Given the description of an element on the screen output the (x, y) to click on. 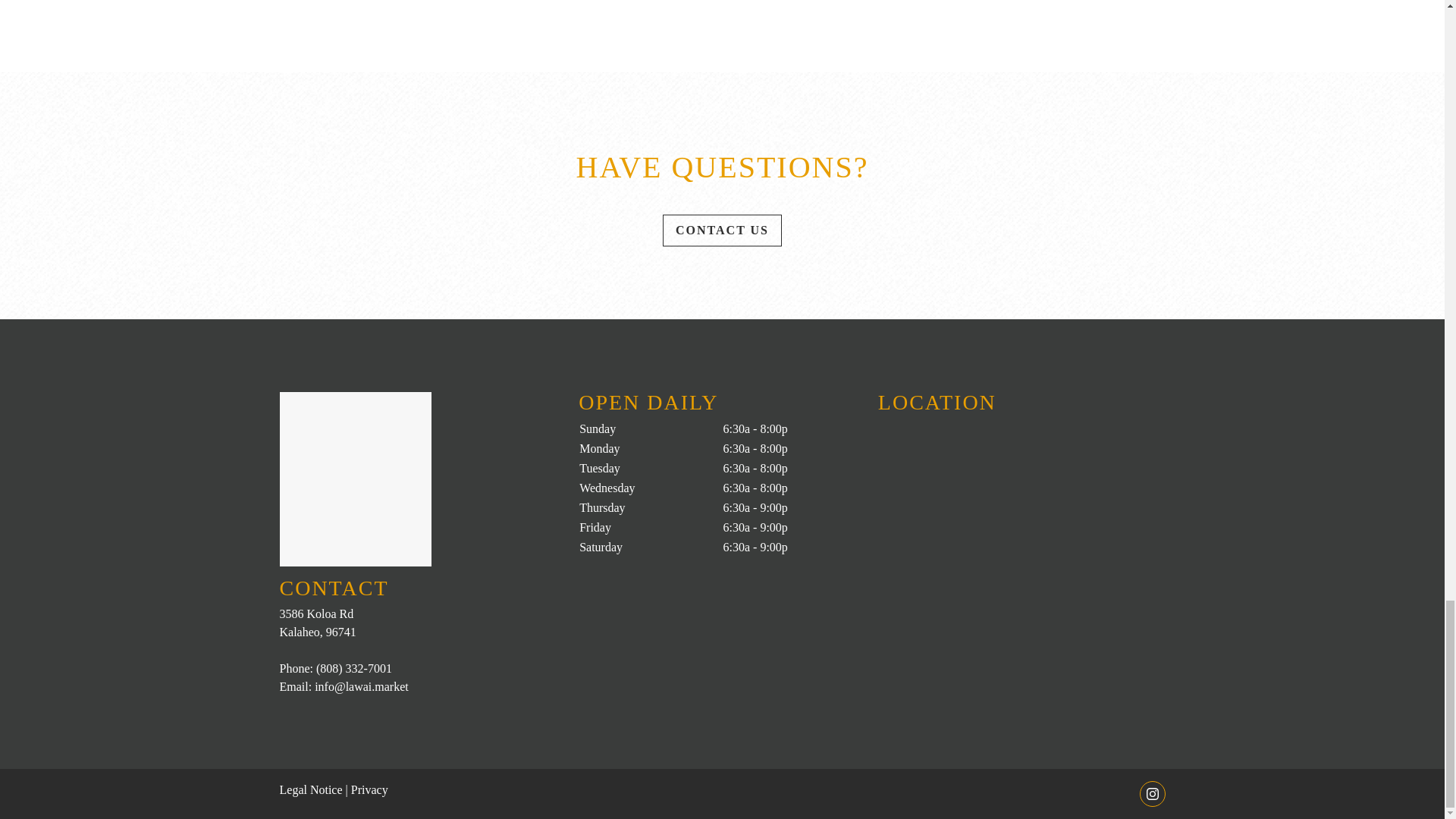
Lawai Market Instagram (1151, 793)
Legal Notice (310, 789)
CONTACT US (721, 230)
CONTACT US (721, 230)
Call Lawai Market (353, 667)
Privacy (369, 789)
